Given the description of an element on the screen output the (x, y) to click on. 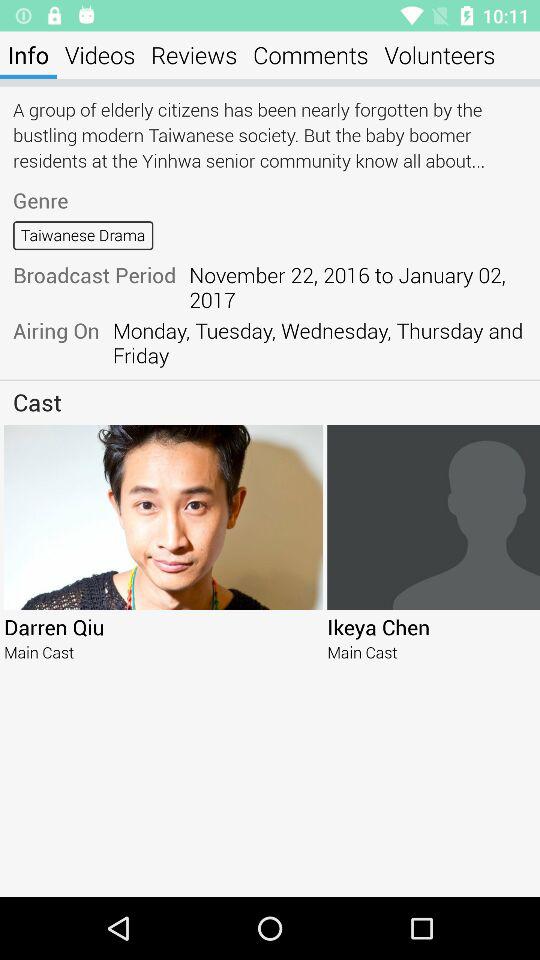
press the videos icon (100, 54)
